Given the description of an element on the screen output the (x, y) to click on. 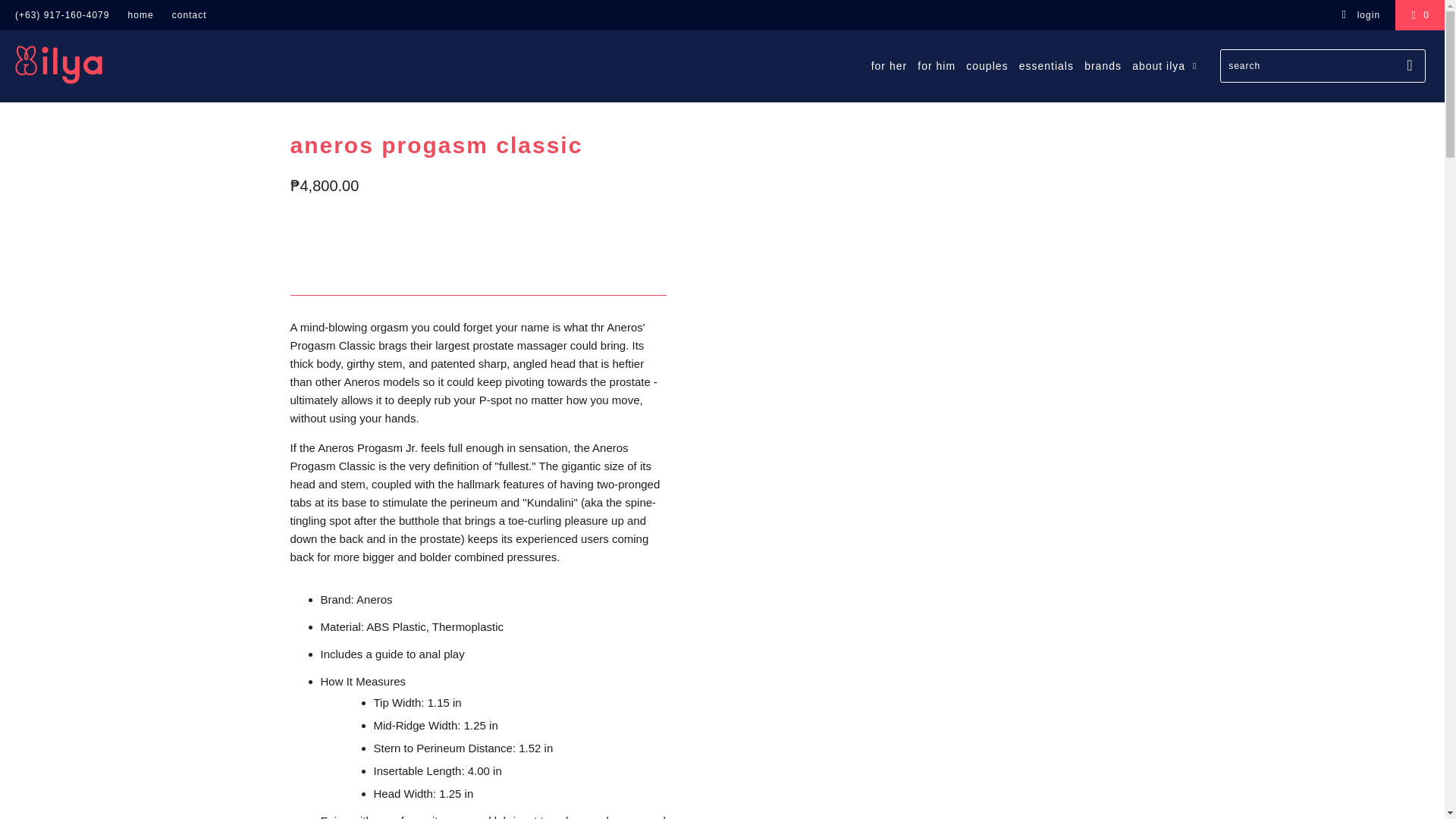
brands (1102, 66)
contact (188, 15)
My Account  (1360, 15)
essentials (1046, 66)
for her (888, 66)
for him (936, 66)
login (1360, 15)
couples (986, 66)
about ilya (1166, 65)
 ilya (122, 64)
